Given the description of an element on the screen output the (x, y) to click on. 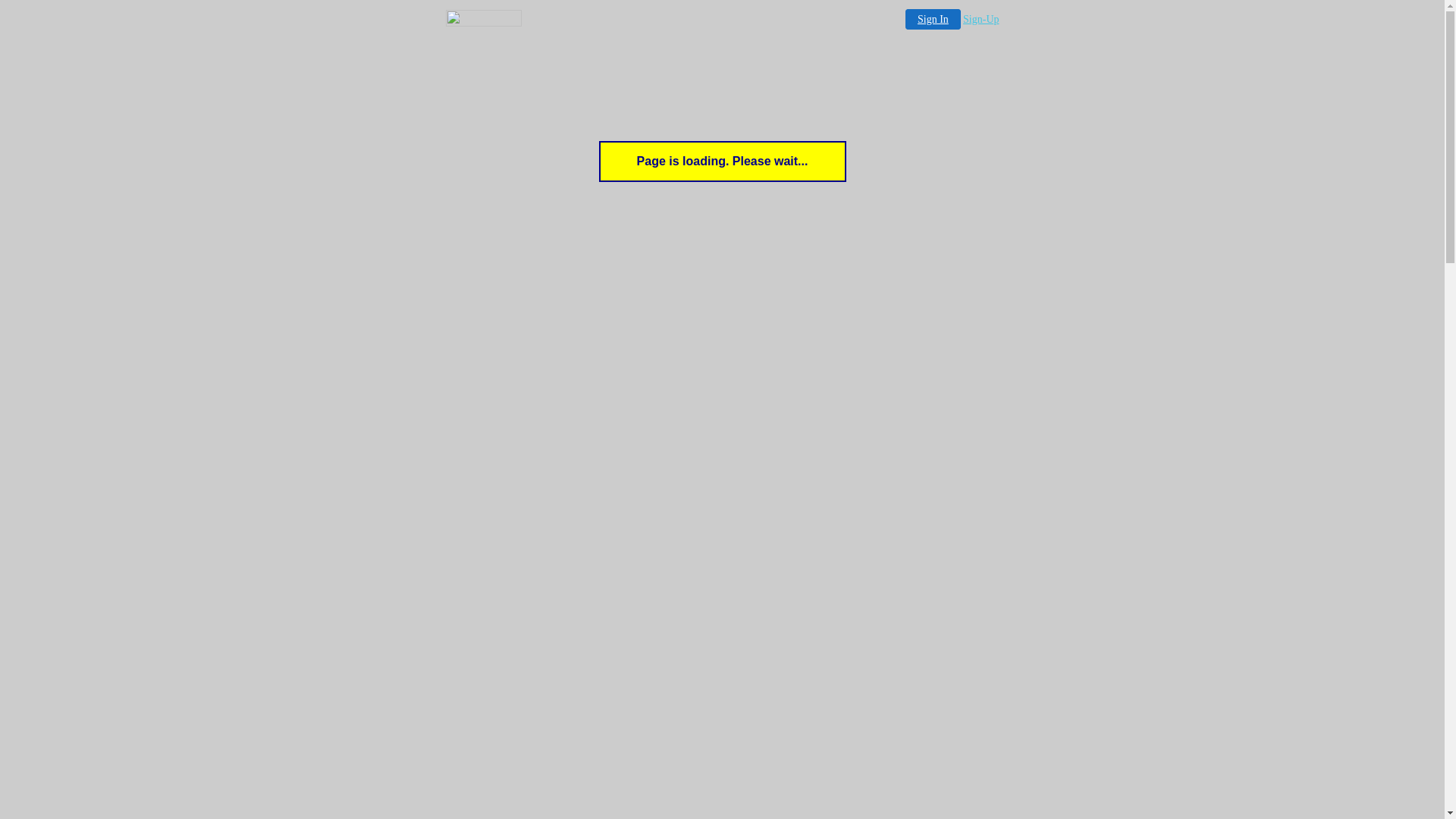
Sign In Element type: text (932, 19)
Sign-Up Element type: text (980, 19)
